Given the description of an element on the screen output the (x, y) to click on. 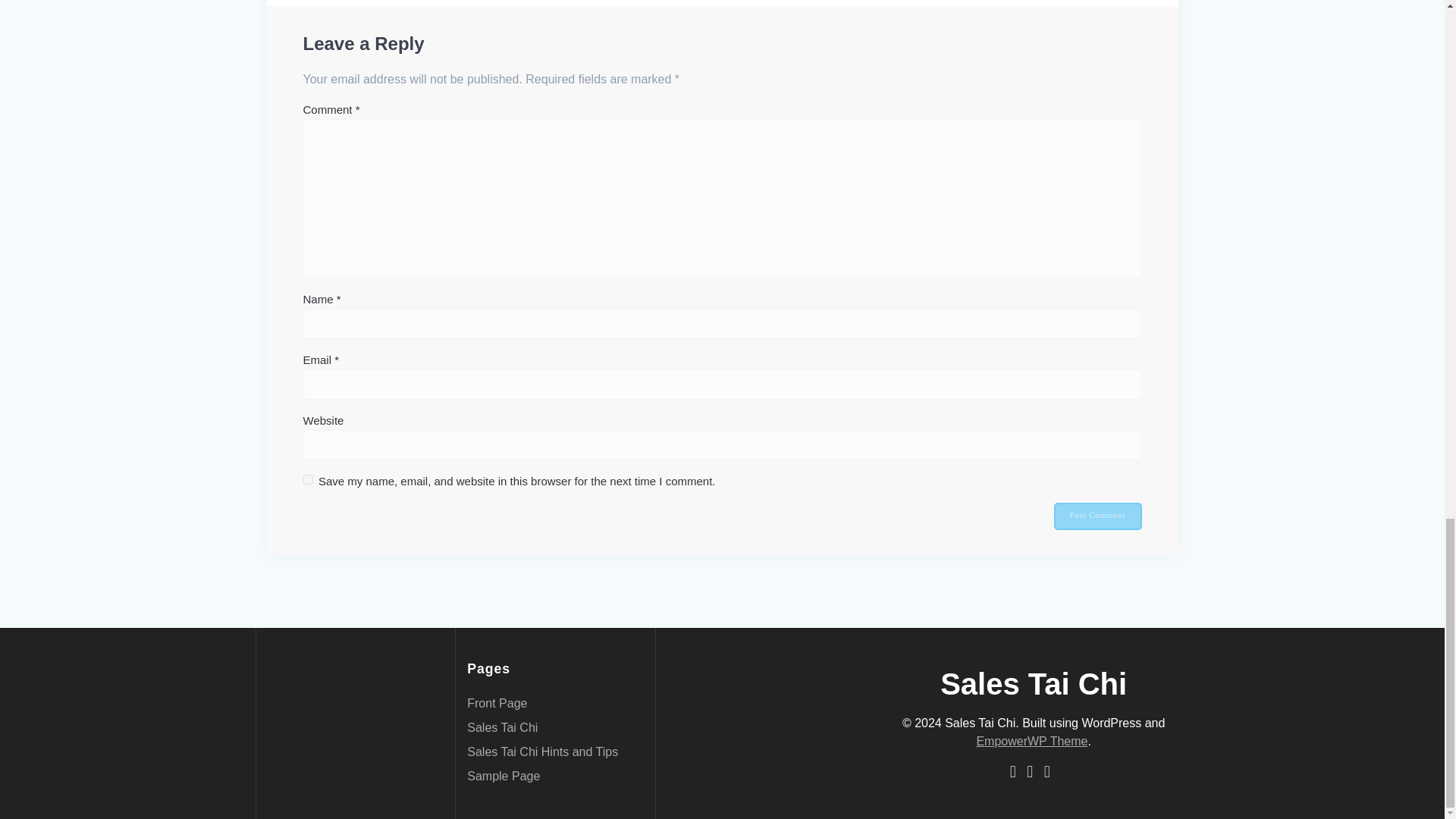
Front Page (497, 703)
EmpowerWP Theme (1031, 740)
Sales Tai Chi Hints and Tips (542, 751)
Post Comment (1097, 515)
Sales Tai Chi (502, 727)
Post Comment (1097, 515)
yes (307, 479)
Sample Page (503, 775)
